Given the description of an element on the screen output the (x, y) to click on. 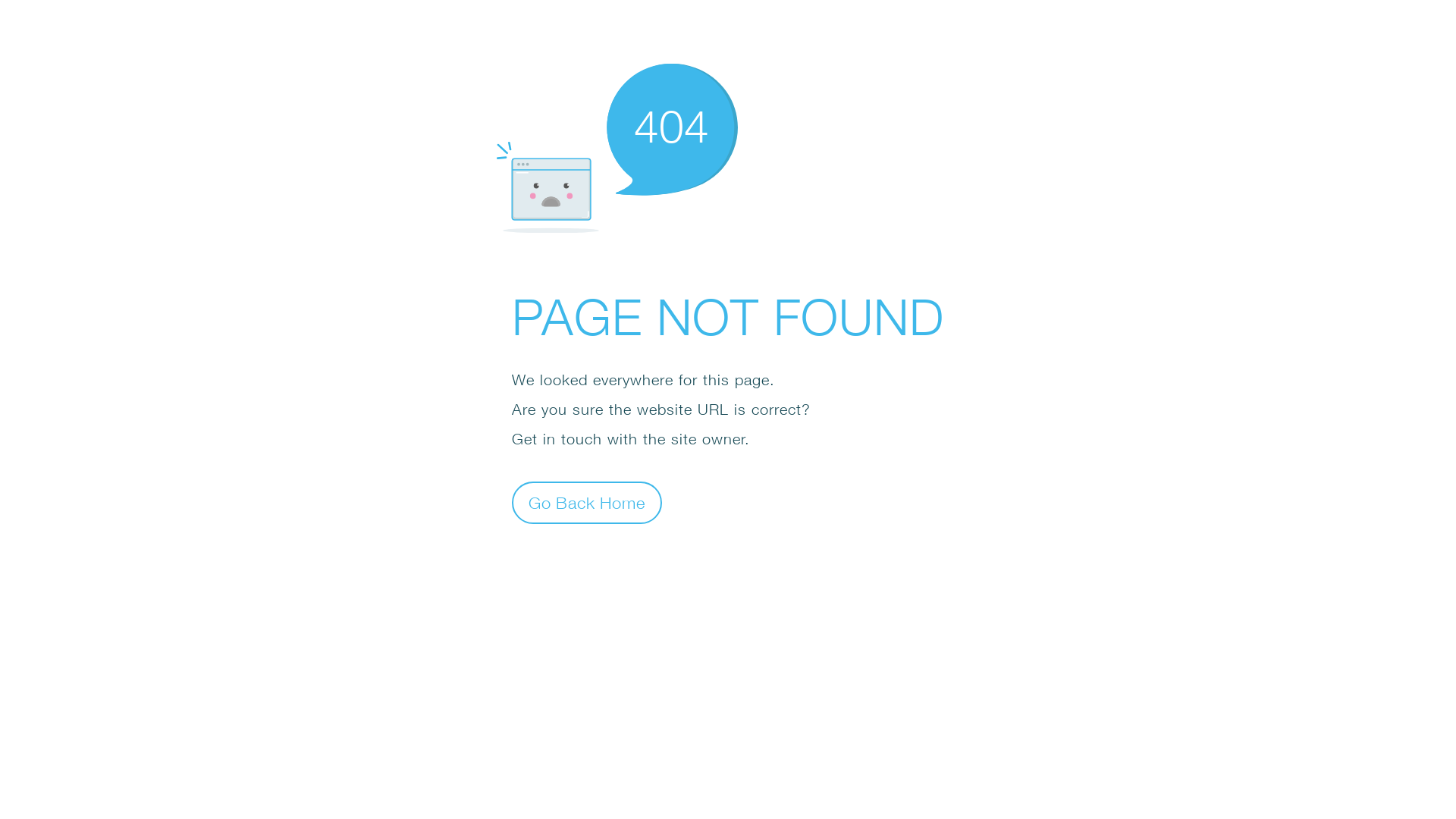
Go Back Home Element type: text (586, 502)
